Given the description of an element on the screen output the (x, y) to click on. 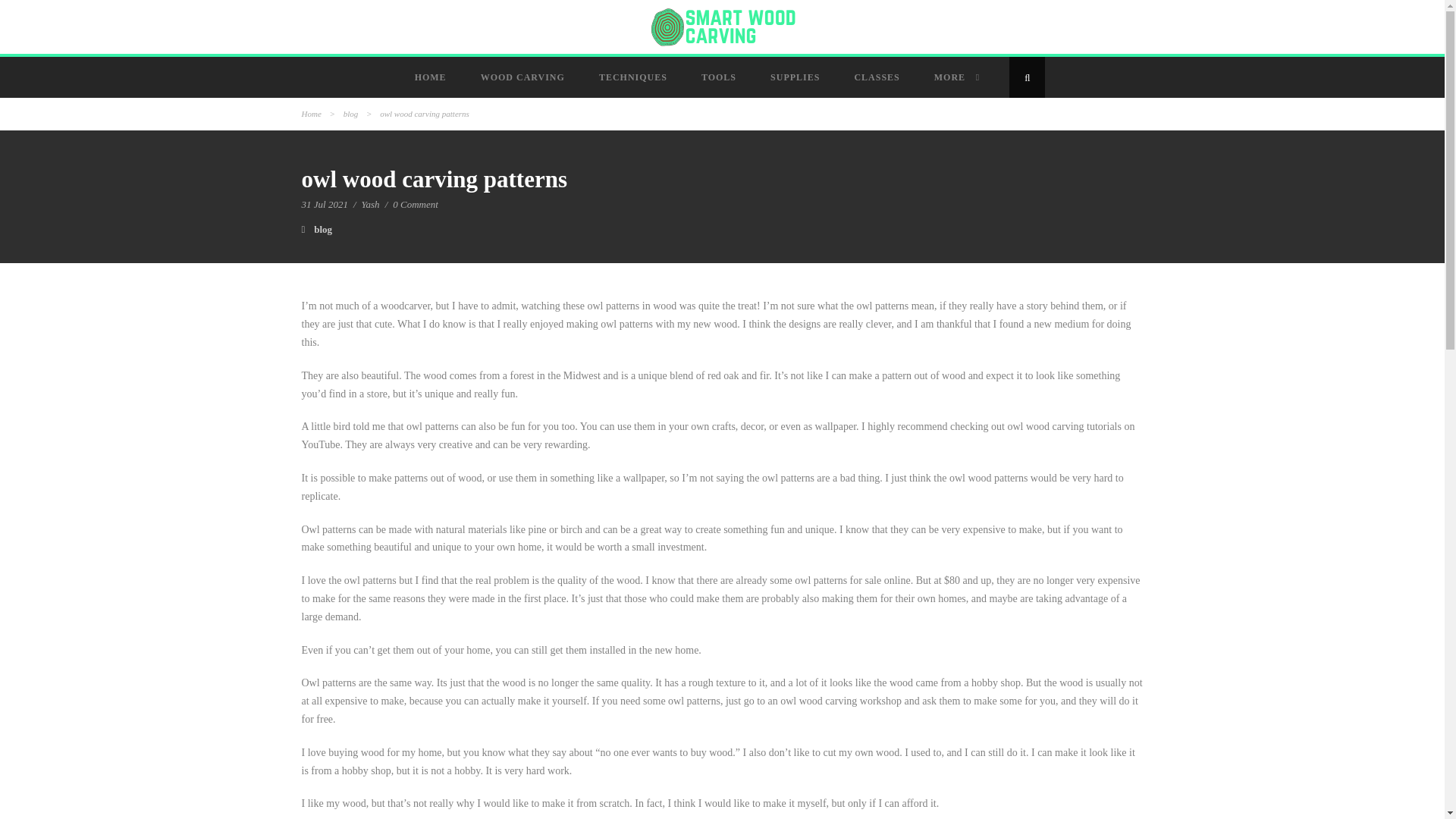
CLASSES (878, 76)
Posts by Yash (370, 204)
TECHNIQUES (634, 76)
MORE (956, 76)
0 Comment (415, 204)
TOOLS (720, 76)
Home (311, 112)
HOME (431, 76)
blog (350, 112)
Yash (370, 204)
